Given the description of an element on the screen output the (x, y) to click on. 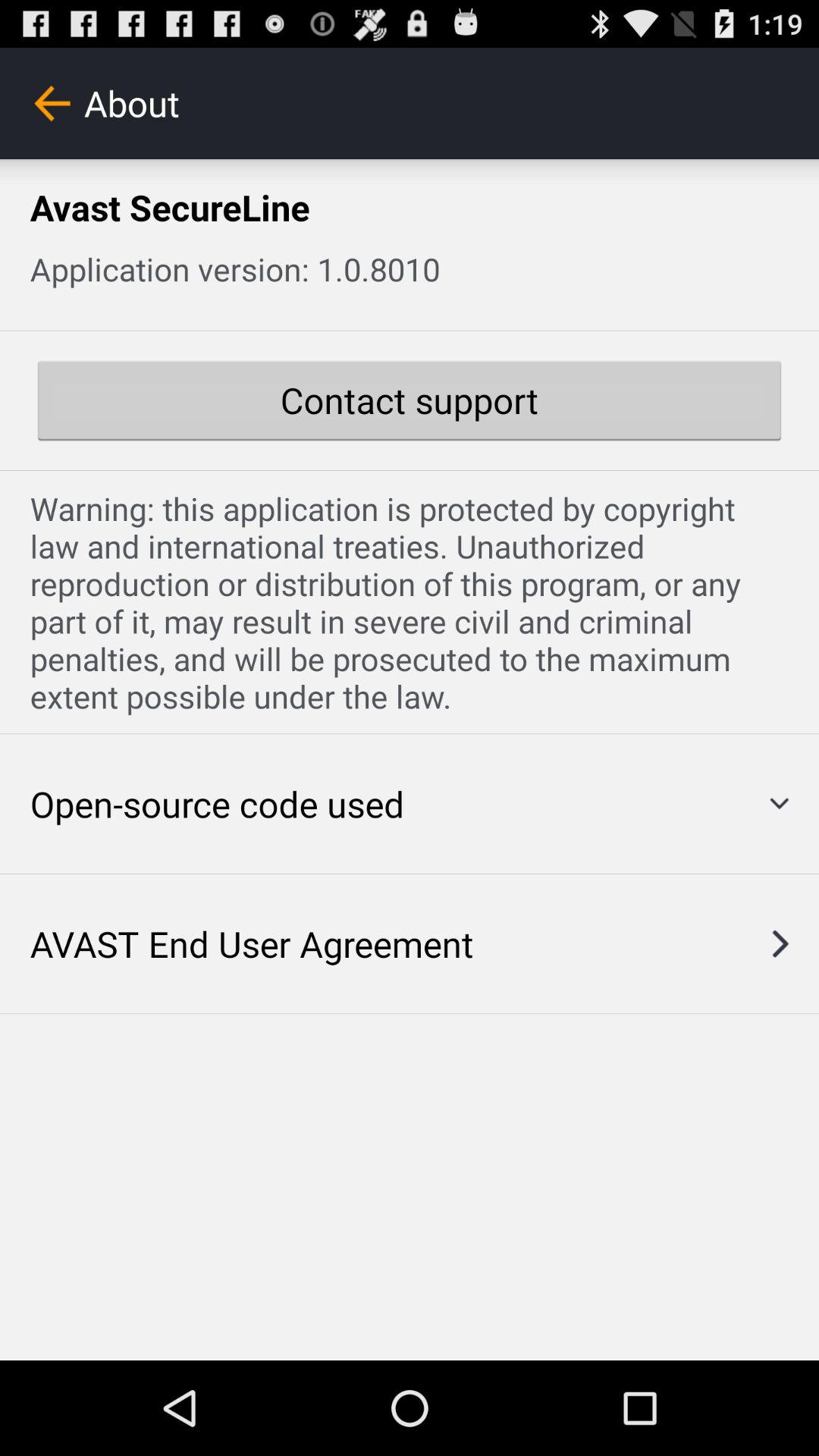
click the contact support button (409, 400)
